Given the description of an element on the screen output the (x, y) to click on. 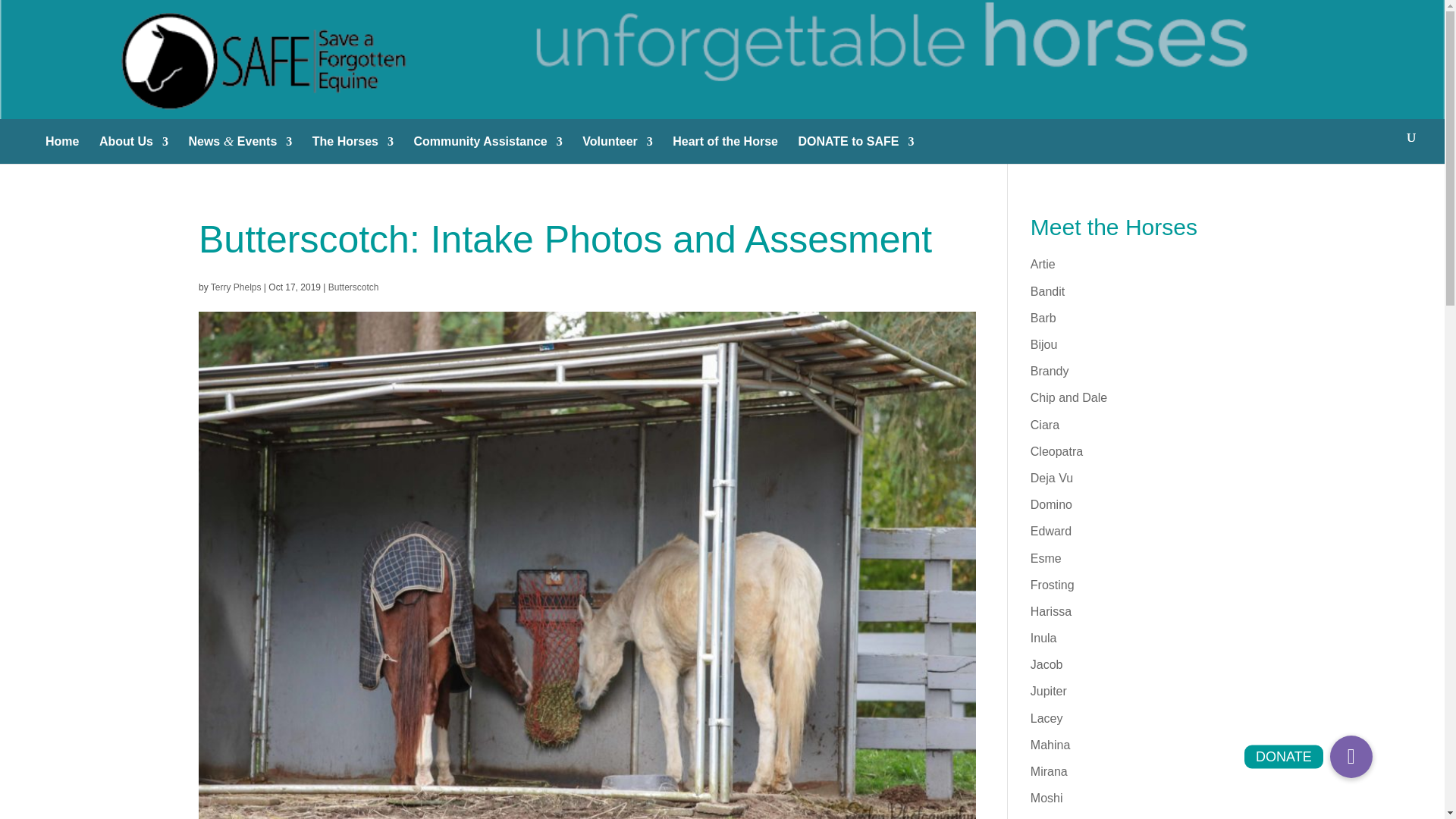
The Horses (353, 147)
Heart of the Horse (724, 147)
DONATE to SAFE (855, 147)
About Us (133, 147)
Volunteer (617, 147)
Home (61, 147)
Posts by Terry Phelps (236, 286)
Community Assistance (487, 147)
